Given the description of an element on the screen output the (x, y) to click on. 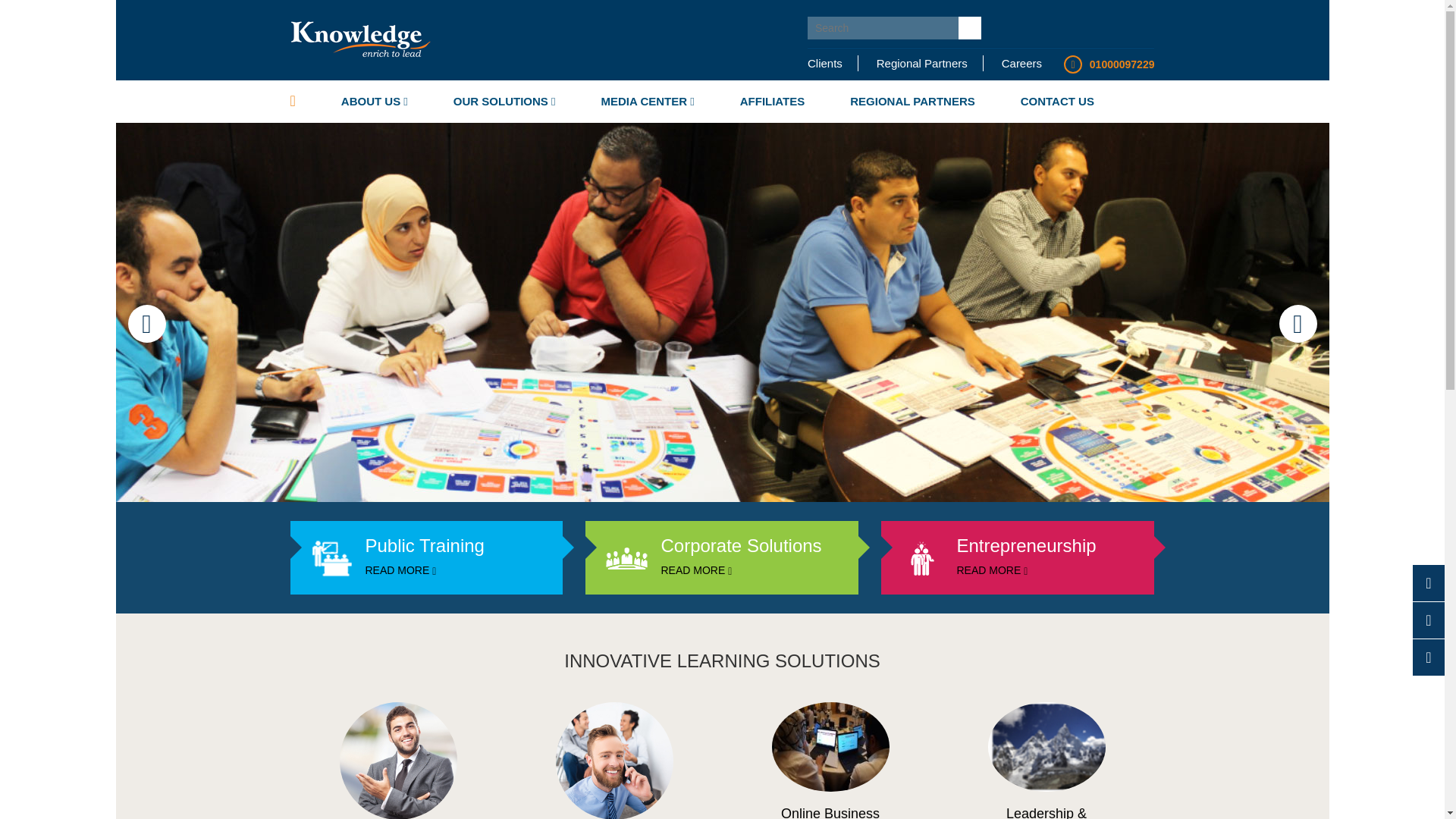
ABOUT US (374, 101)
Regional Partners (922, 63)
Clients (833, 63)
OUR SOLUTIONS (504, 101)
Careers (1014, 63)
